Given the description of an element on the screen output the (x, y) to click on. 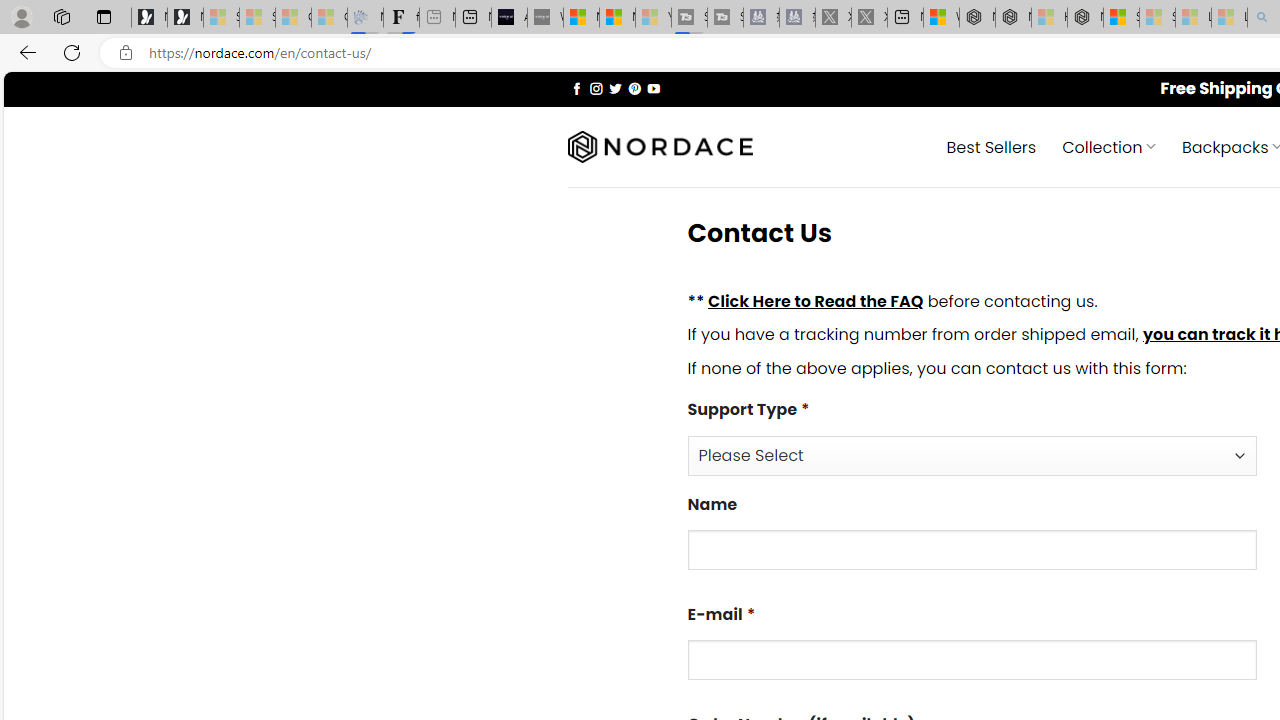
Click Here to Read the FAQ (815, 300)
What's the best AI voice generator? - voice.ai - Sleeping (545, 17)
AI Voice Changer for PC and Mac - Voice.ai (509, 17)
